Given the description of an element on the screen output the (x, y) to click on. 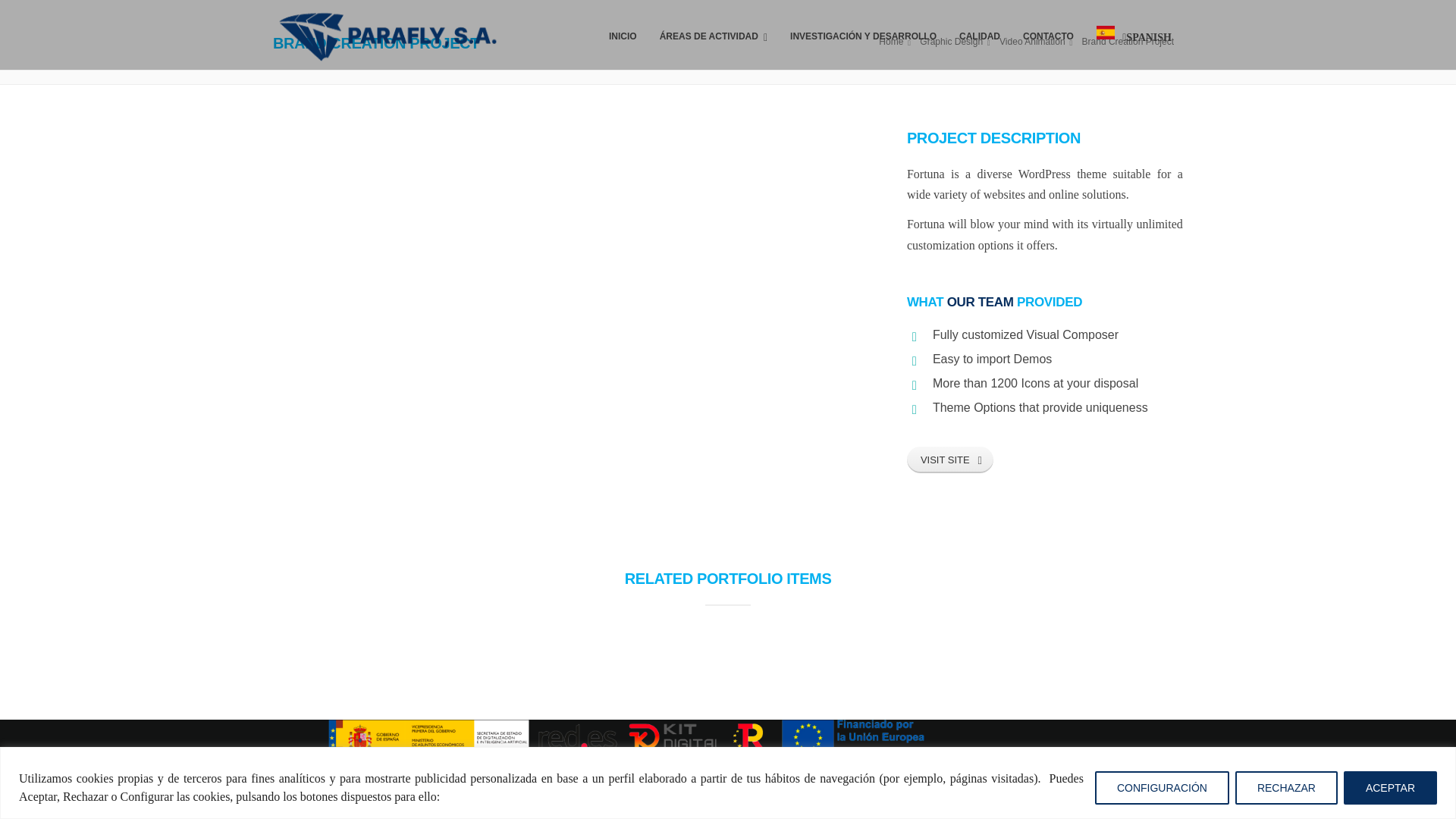
CONTACTO (1047, 34)
SPANISH (1133, 34)
CALIDAD (979, 34)
Brand Creation Project (1129, 41)
Spanish (1133, 34)
